Given the description of an element on the screen output the (x, y) to click on. 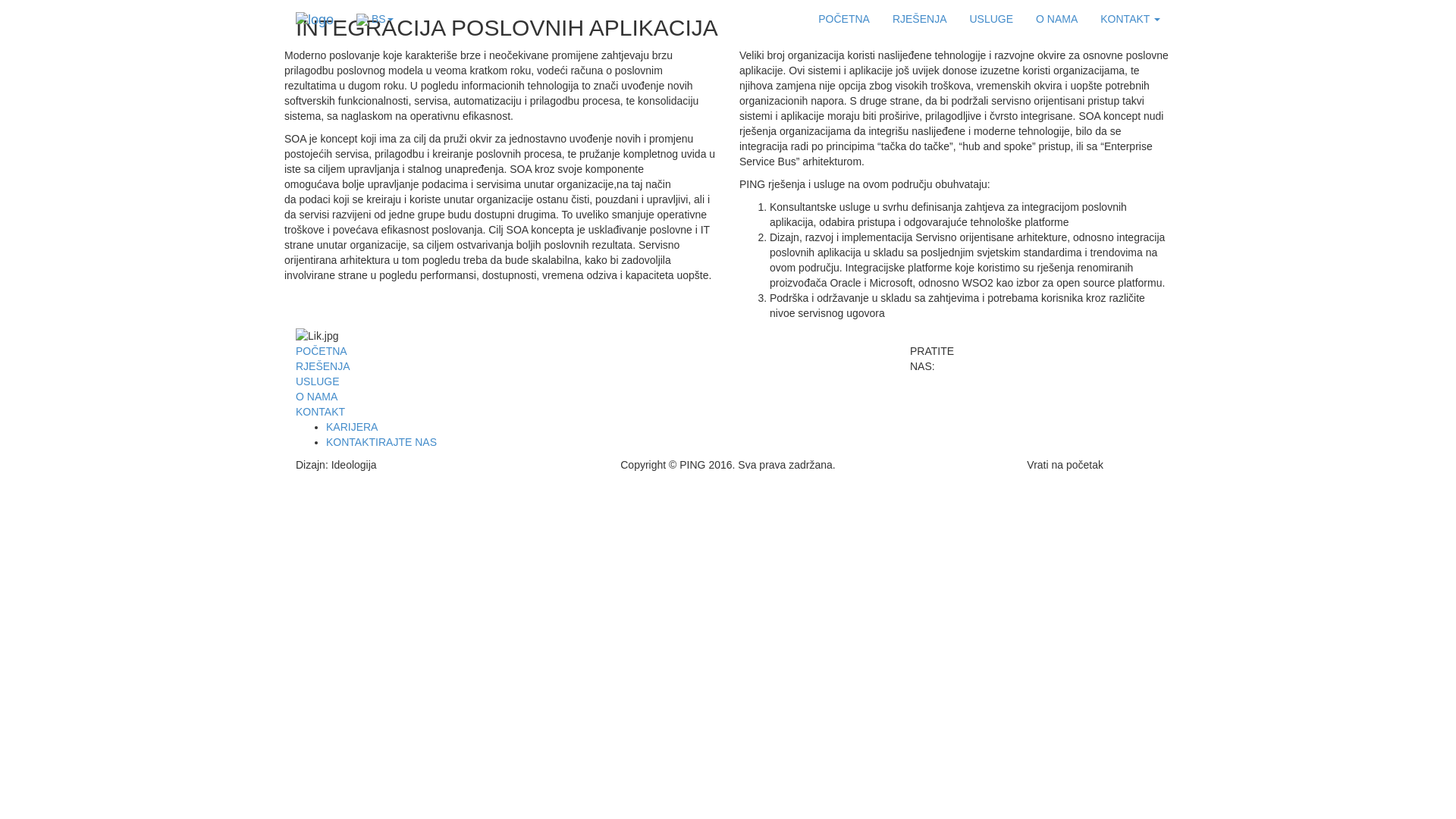
KONTAKT Element type: text (1129, 18)
USLUGE Element type: text (990, 18)
BS Element type: text (374, 18)
KONTAKTIRAJTE NAS Element type: text (381, 442)
O NAMA Element type: text (1056, 18)
O NAMA Element type: text (316, 396)
KARIJERA Element type: text (351, 426)
USLUGE Element type: text (317, 381)
KONTAKT Element type: text (320, 411)
